Given the description of an element on the screen output the (x, y) to click on. 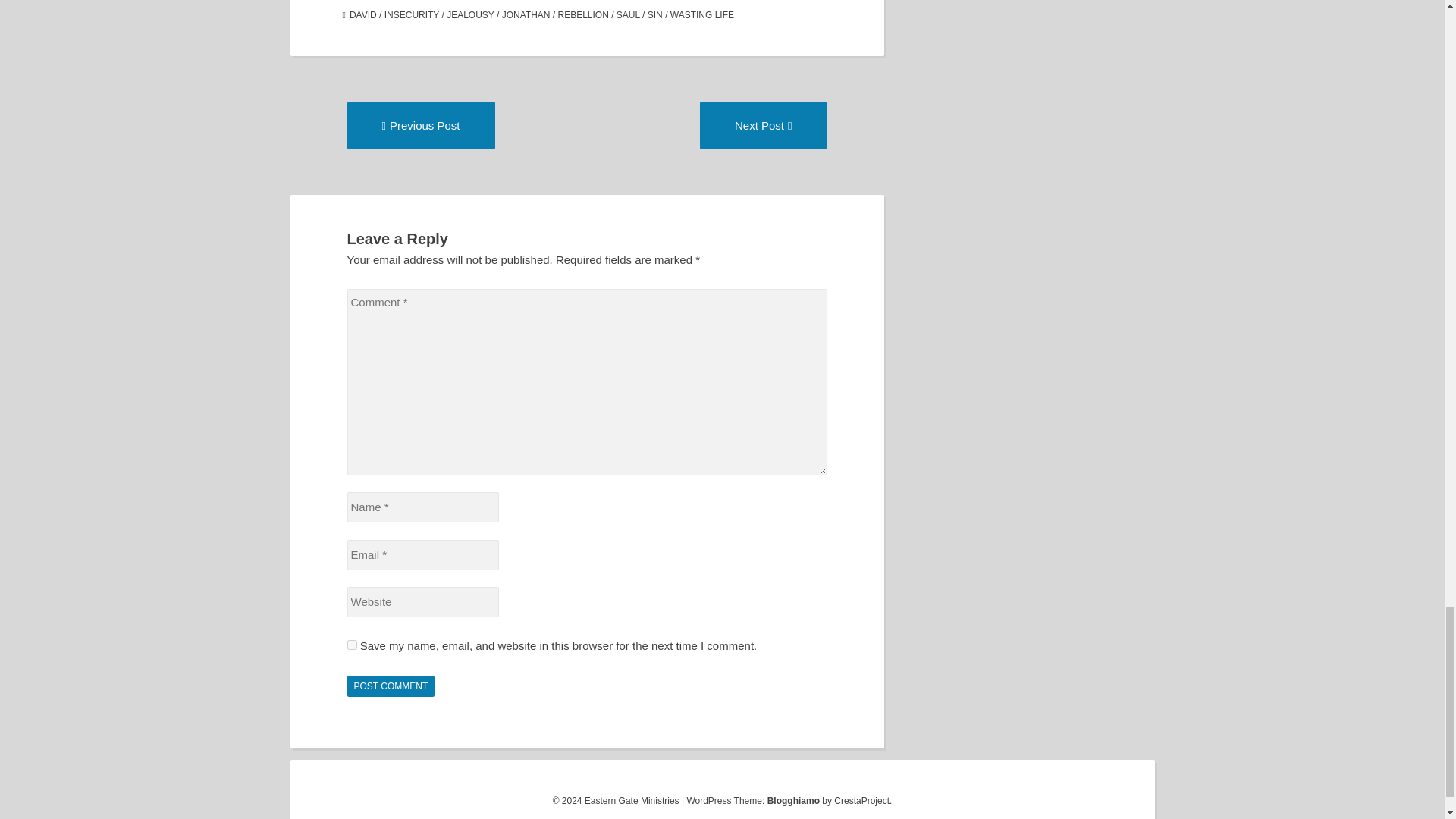
Amazing Grace (421, 125)
DAVID (363, 14)
SIN (654, 14)
Post Comment (391, 685)
SAUL (627, 14)
Post Comment (391, 685)
yes (351, 644)
WASTING LIFE (701, 14)
JEALOUSY (469, 14)
INSECURITY (411, 14)
JONATHAN (763, 124)
REBELLION (526, 14)
